Given the description of an element on the screen output the (x, y) to click on. 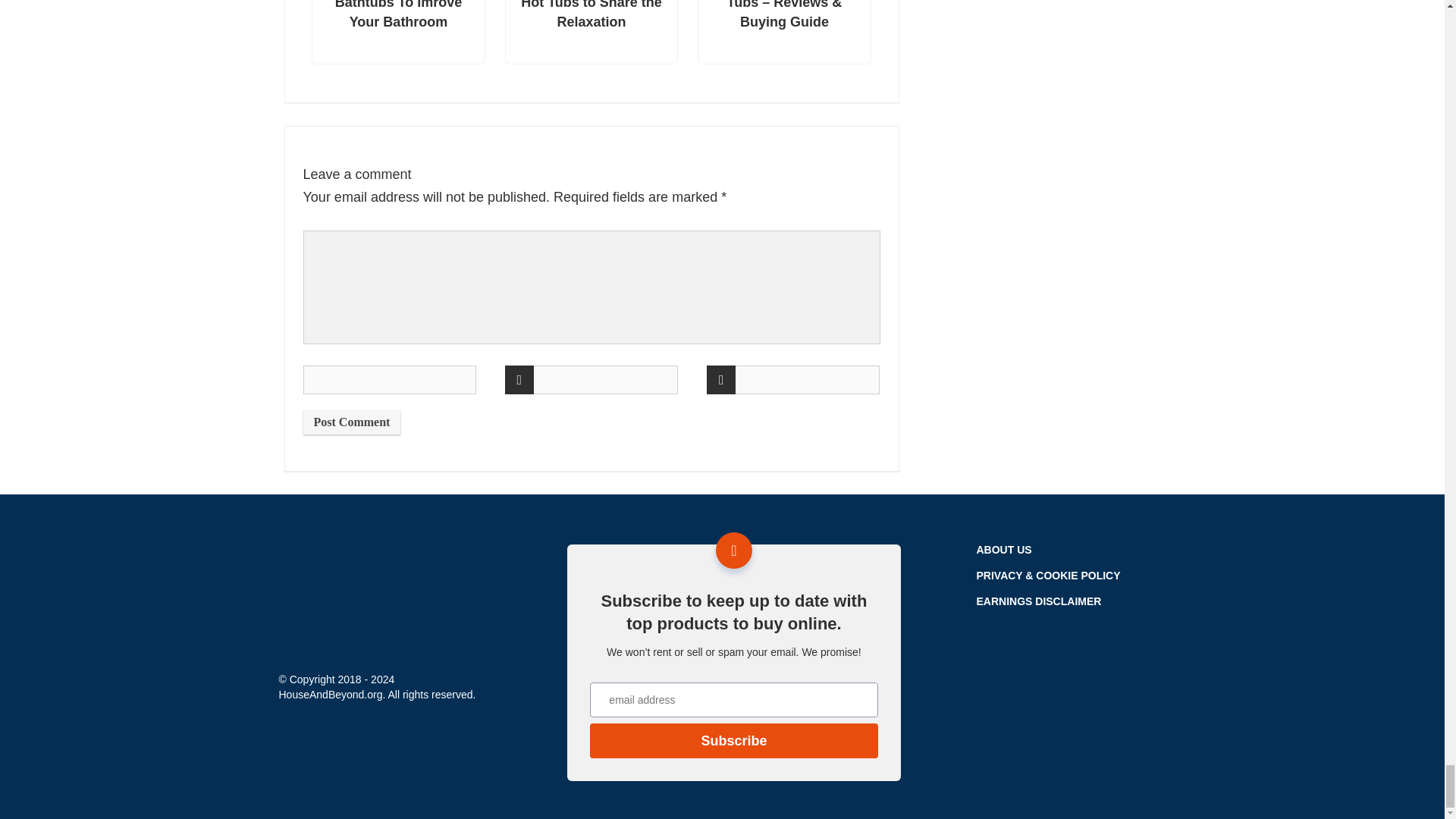
DMCA.com Protection Status (1090, 741)
